Given the description of an element on the screen output the (x, y) to click on. 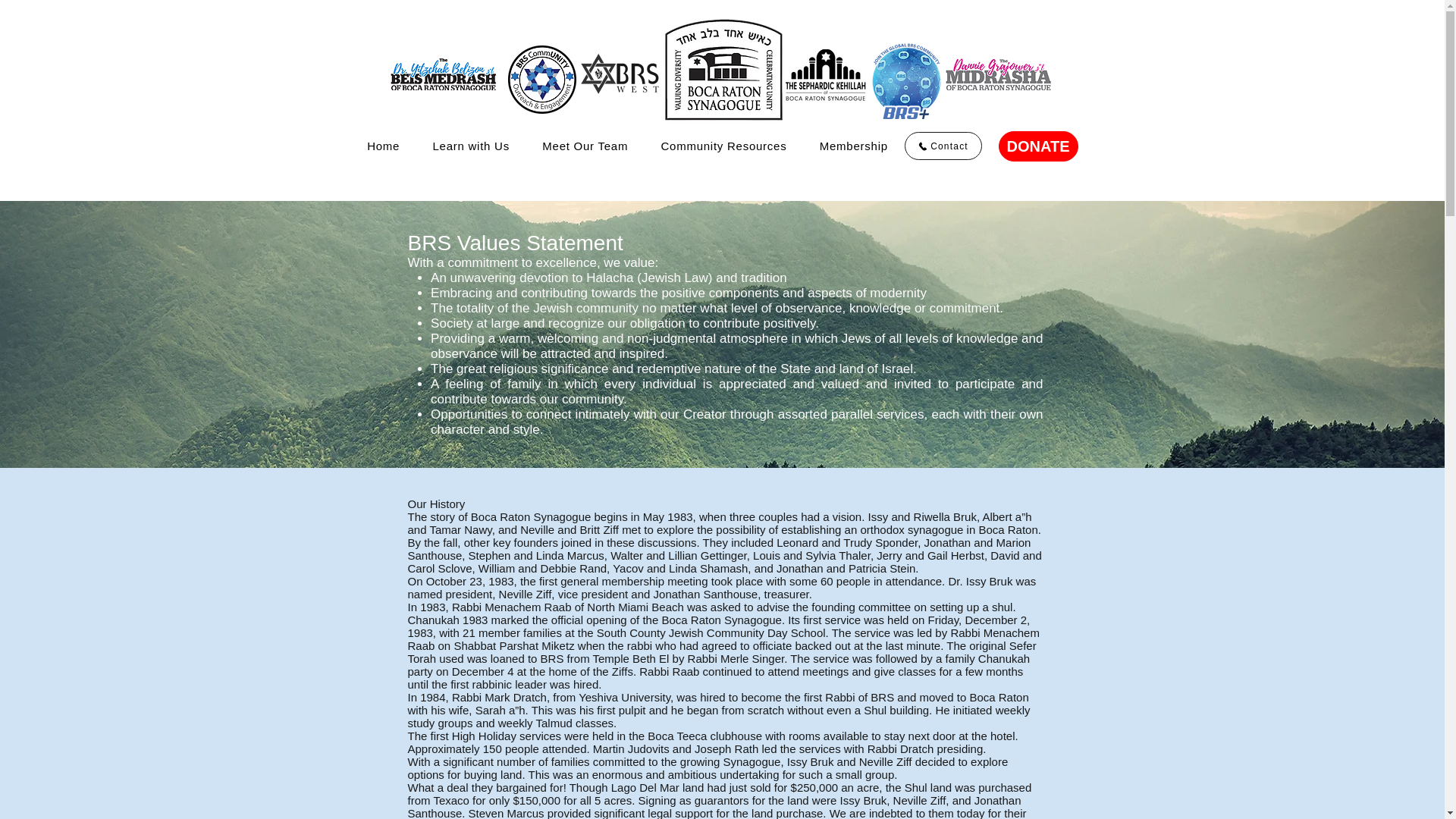
Home (382, 145)
DONATE (1037, 146)
Community Resources (723, 145)
Contact (942, 145)
Embedded Content (114, 721)
